Given the description of an element on the screen output the (x, y) to click on. 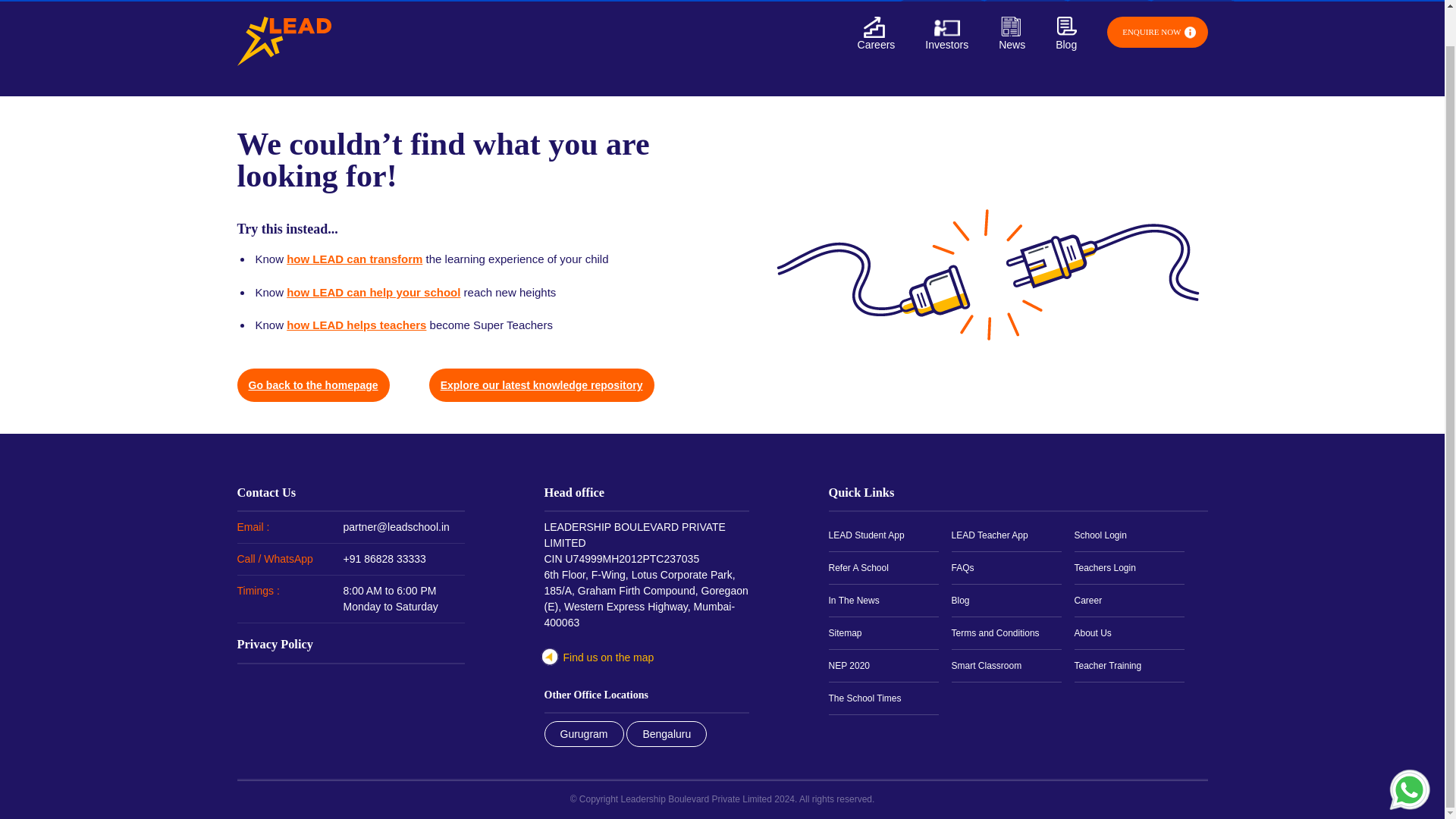
ABOUT US (1192, 0)
PARENTS (942, 0)
SCHOOLS (1025, 0)
Investors (946, 40)
ENQUIRE NOW (1156, 31)
how LEAD can transform (354, 258)
TEACHERS (1109, 0)
LEAD School (282, 41)
